Given the description of an element on the screen output the (x, y) to click on. 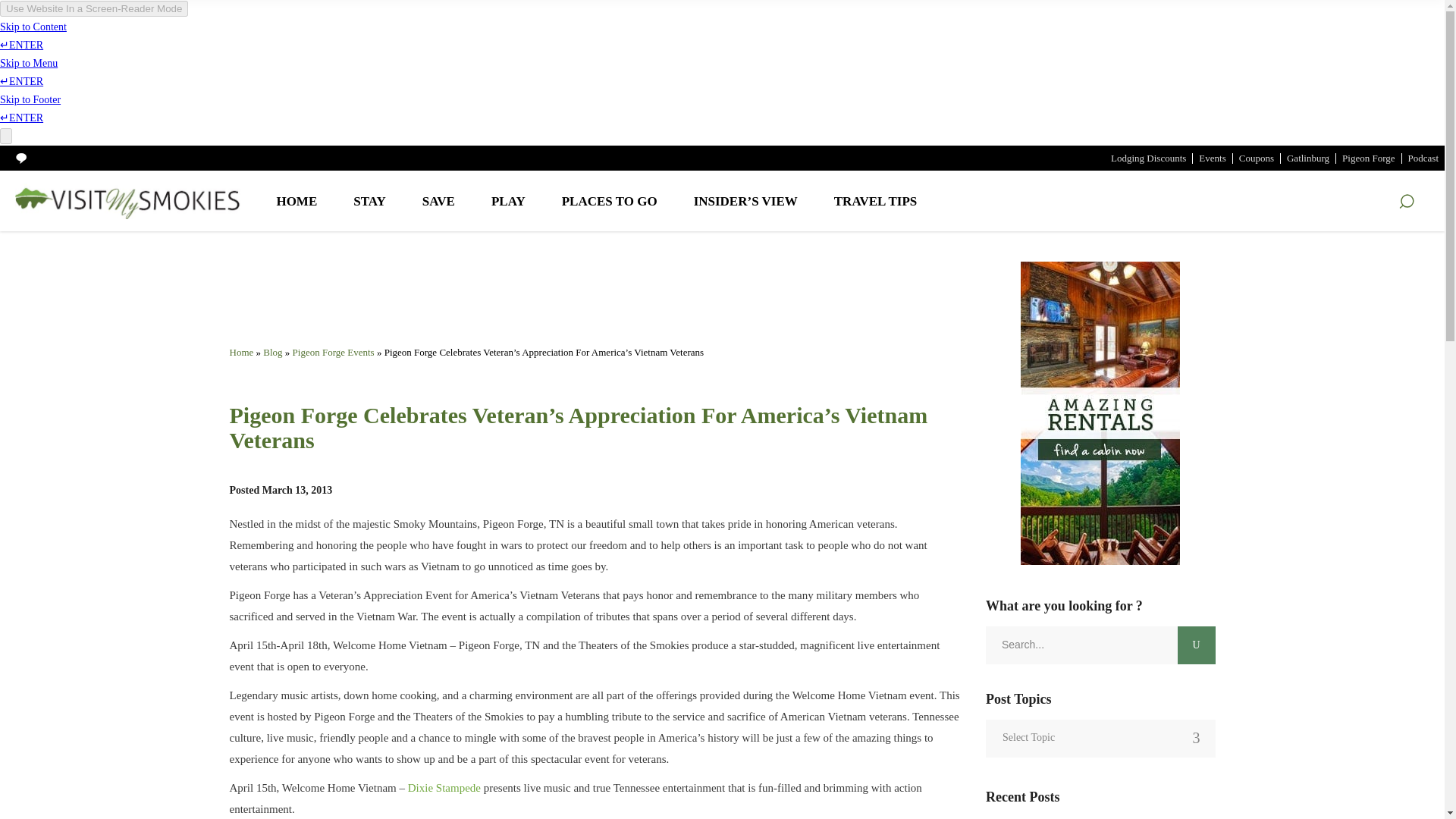
PLACES TO GO (609, 199)
Events (1211, 156)
Podcast (1422, 156)
Gatlinburg (1308, 156)
Lodging Discounts (1148, 156)
Pigeon Forge (1368, 156)
Search for: (1081, 645)
PLAY (508, 199)
Select Topic (1100, 737)
STAY (369, 199)
Coupons (1256, 156)
Advertisement (595, 299)
HOME (296, 199)
SAVE (438, 199)
